Given the description of an element on the screen output the (x, y) to click on. 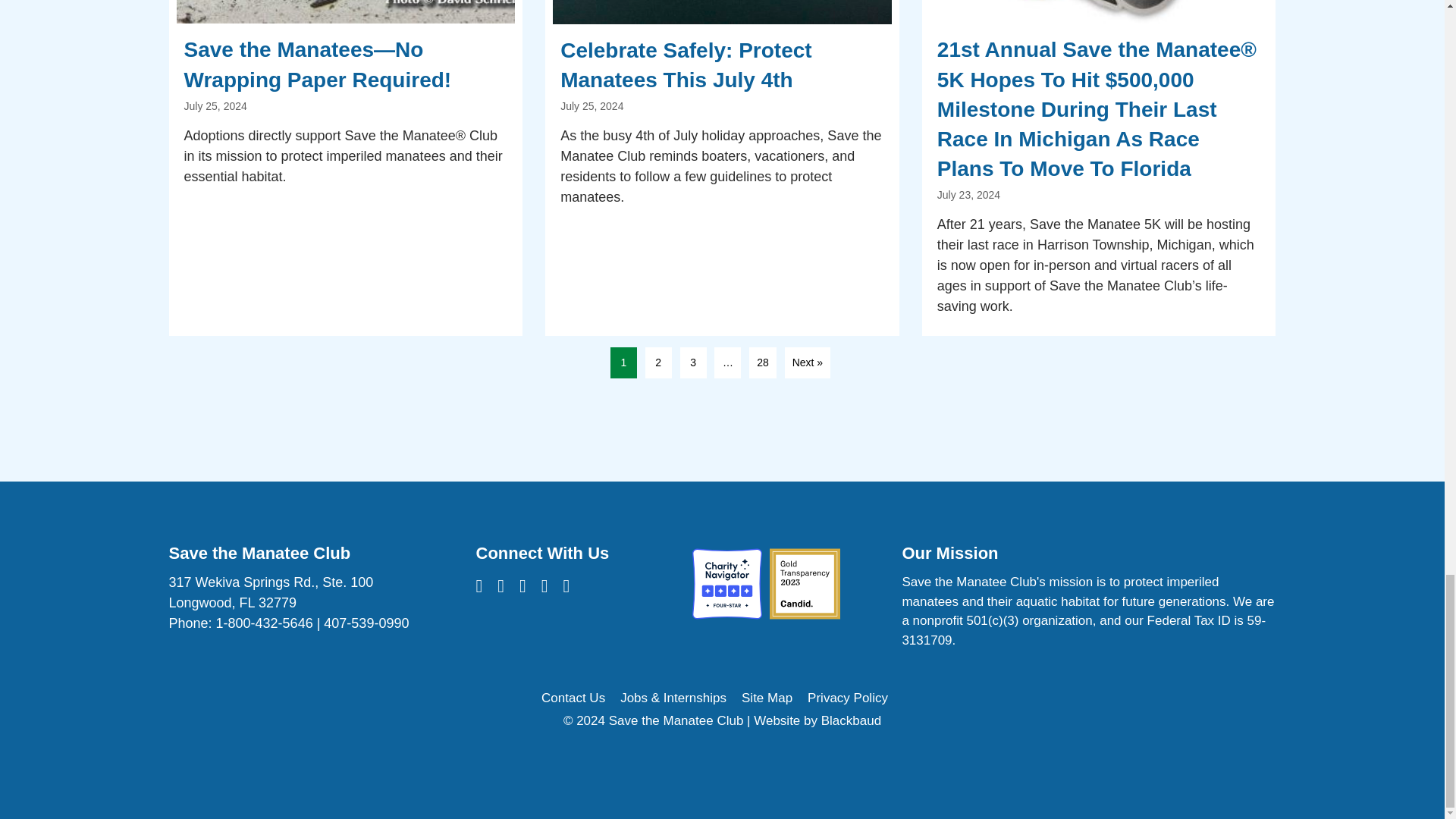
Blobid2 1720794056115 (345, 12)
Blobid0 1720625845581 (1099, 12)
Florida Manatee (722, 12)
Celebrate Safely: Protect Manatees This July 4th (721, 168)
